Given the description of an element on the screen output the (x, y) to click on. 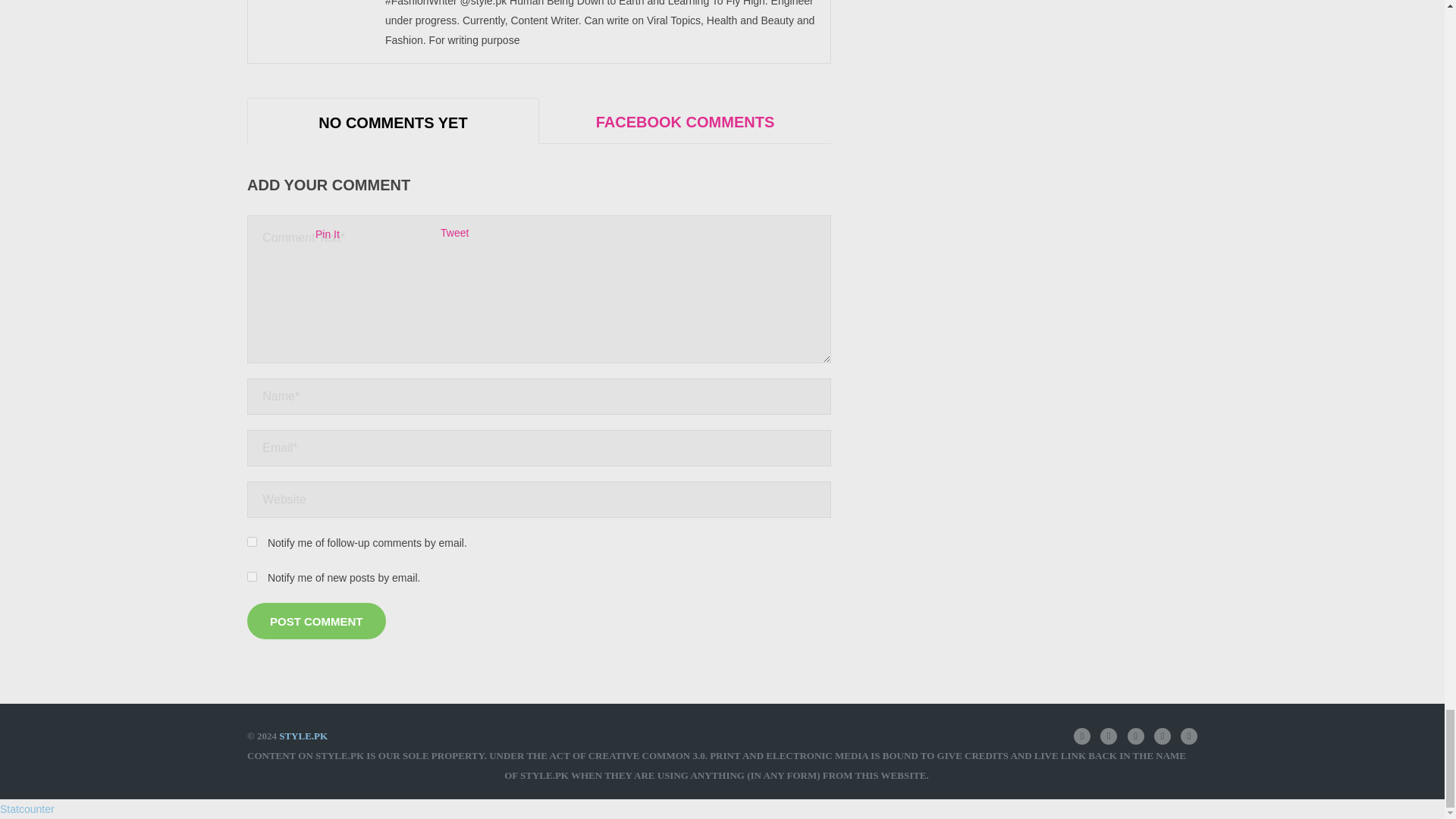
subscribe (252, 576)
subscribe (252, 542)
Post Comment (316, 620)
